Given the description of an element on the screen output the (x, y) to click on. 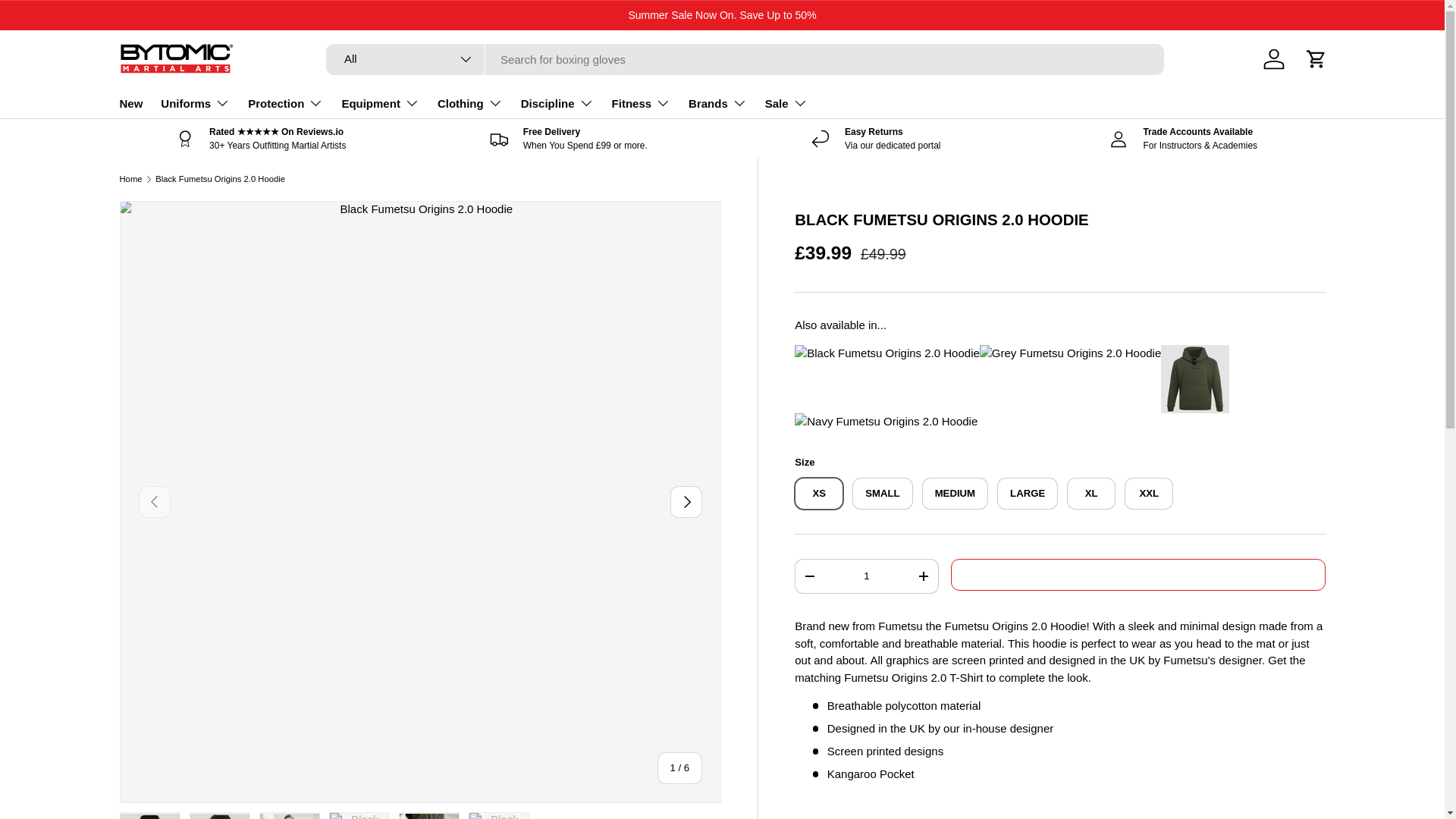
Khaki Fumetsu Origins 2.0 Hoodie (1194, 352)
Log in (1273, 59)
Uniforms (195, 102)
Cart (1316, 59)
Protection (285, 102)
All (405, 59)
1 (866, 576)
